Given the description of an element on the screen output the (x, y) to click on. 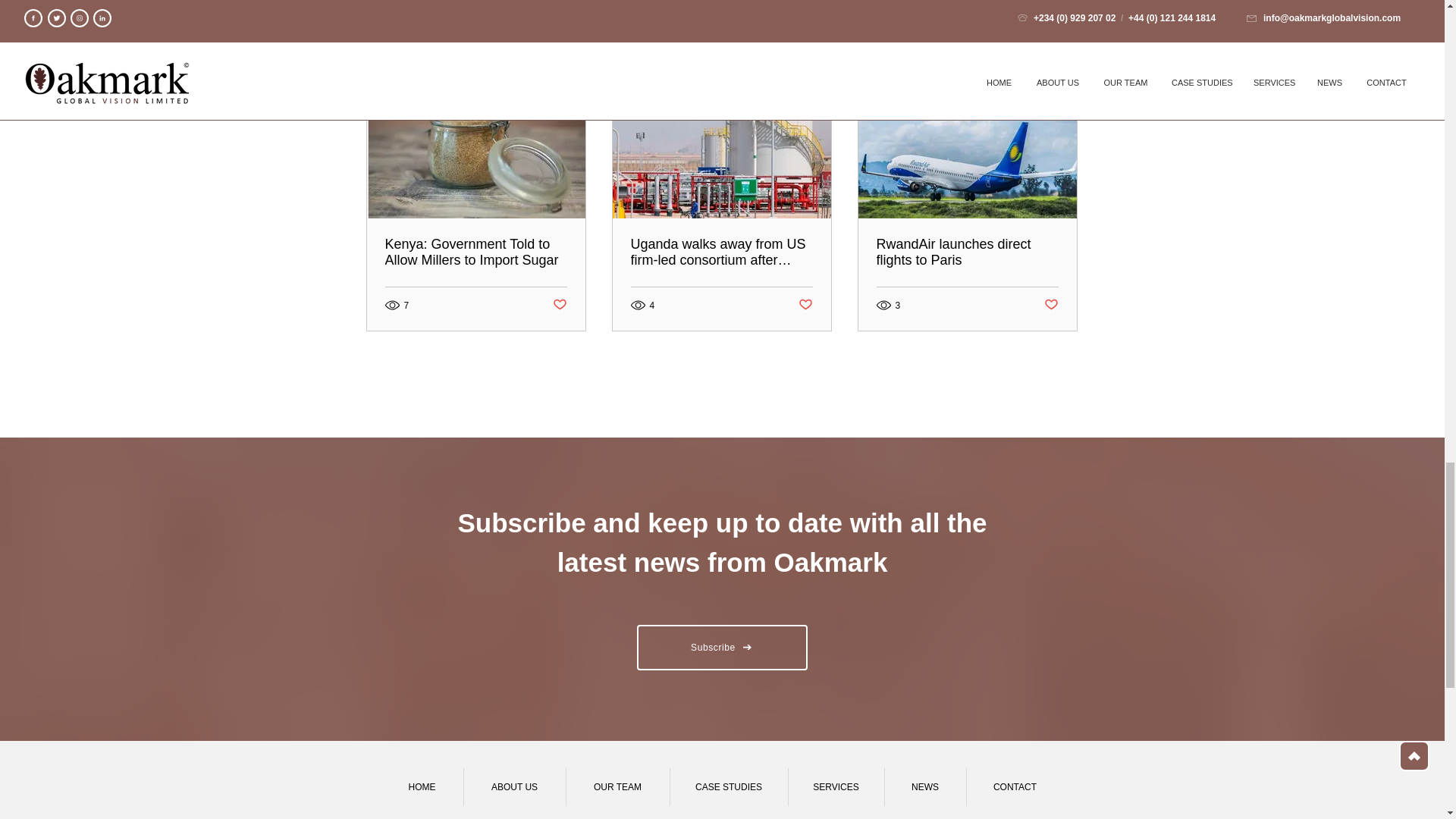
Post not marked as liked (804, 304)
RwandAir launches direct flights to Paris (967, 252)
Subscribe (722, 647)
Kenya: Government Told to Allow Millers to Import Sugar (476, 252)
See All (1061, 68)
Post not marked as liked (558, 304)
Post not marked as liked (1050, 304)
